Given the description of an element on the screen output the (x, y) to click on. 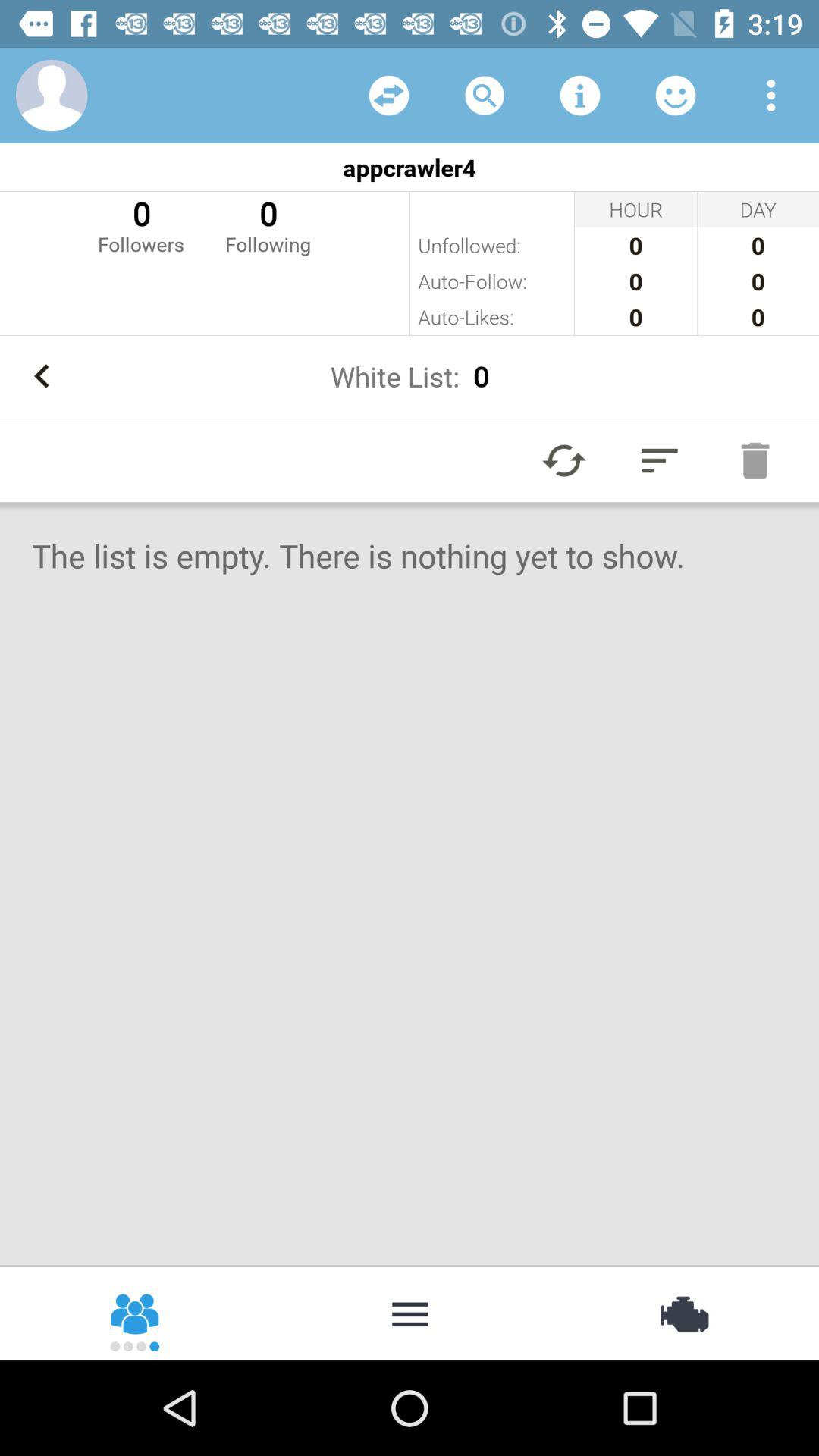
click the icon to the left of 0
following icon (140, 224)
